Given the description of an element on the screen output the (x, y) to click on. 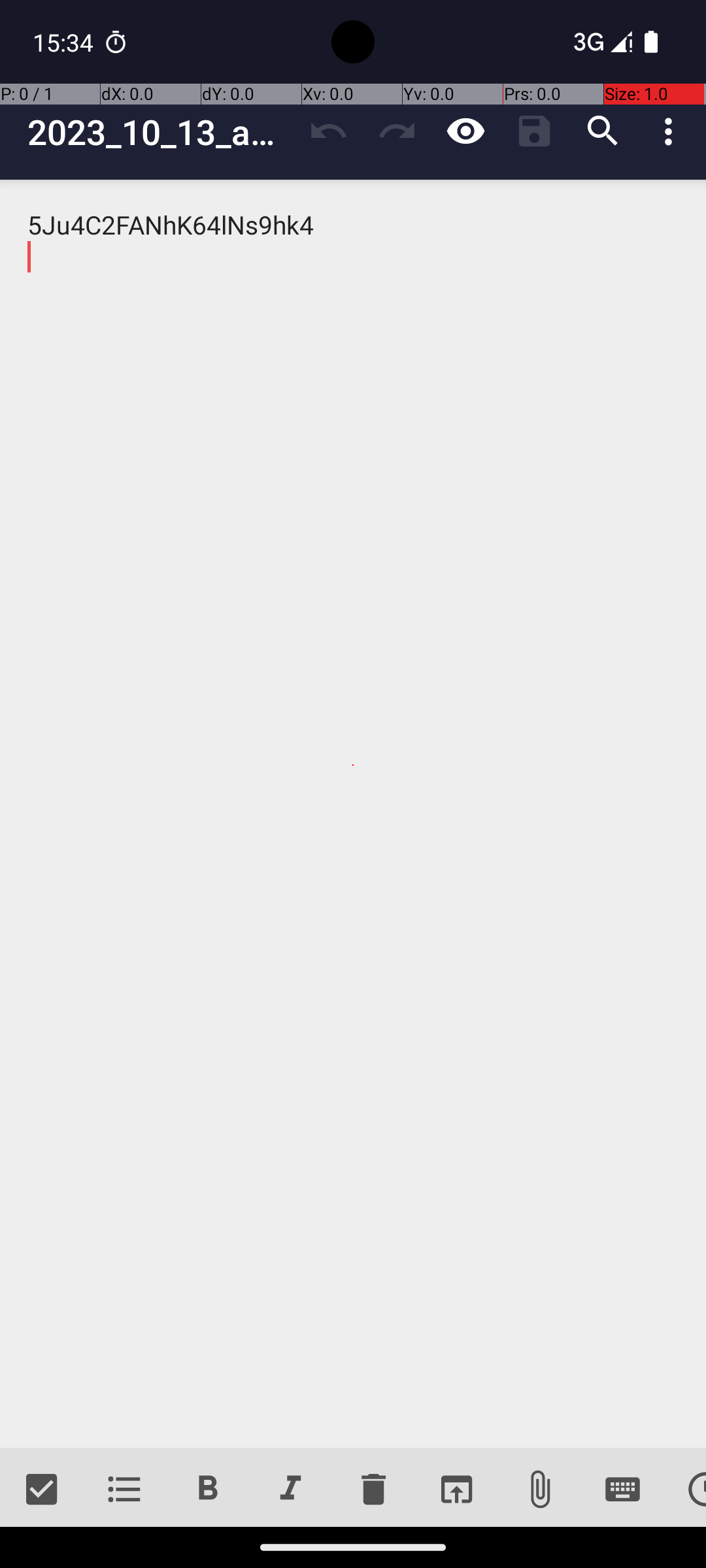
2023_10_13_april_workout_routine Element type: android.widget.TextView (160, 131)
5Ju4C2FANhK64lNs9hk4
 Element type: android.widget.EditText (353, 813)
